Given the description of an element on the screen output the (x, y) to click on. 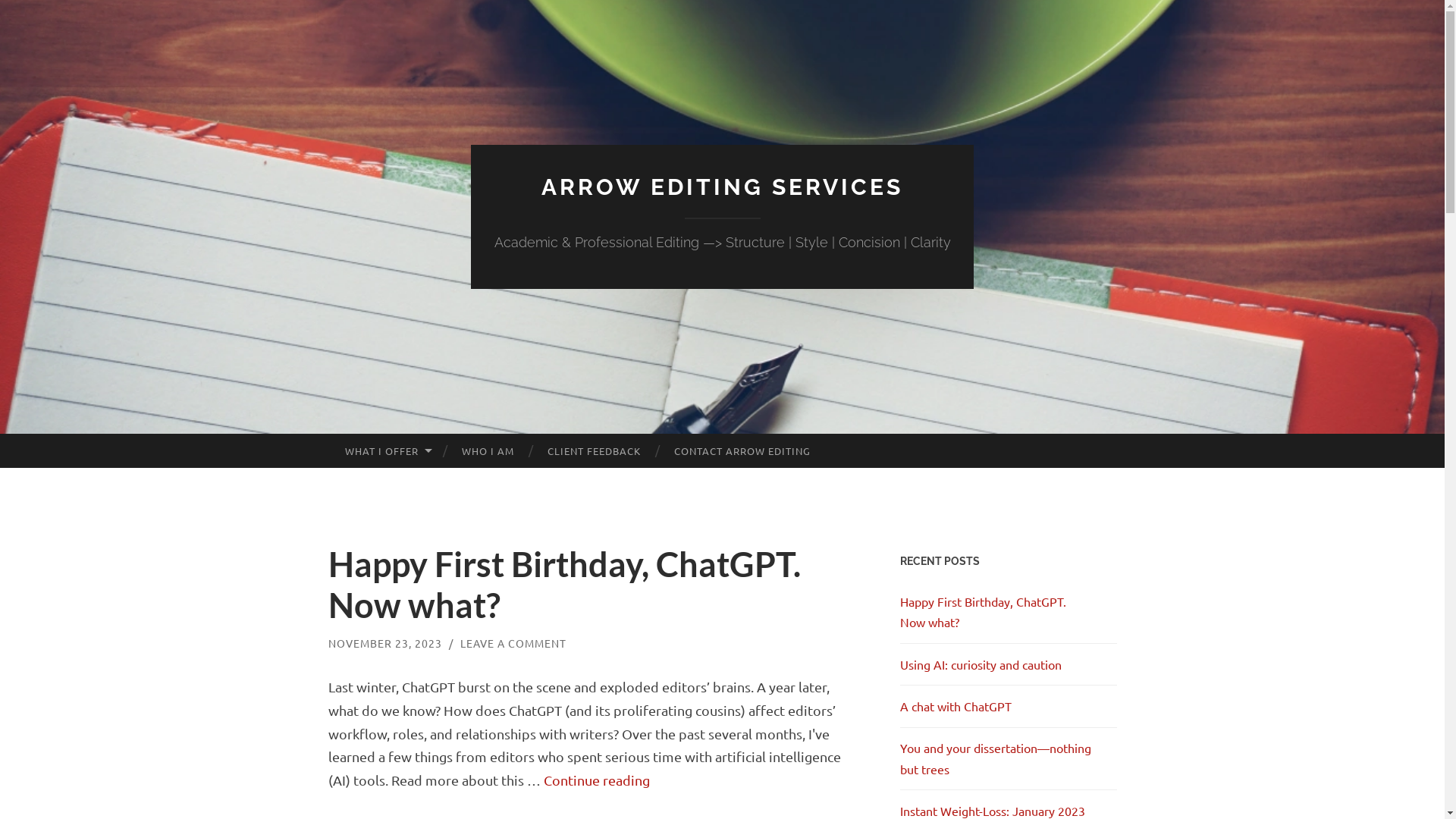
WHAT I OFFER Element type: text (385, 450)
LEAVE A COMMENT Element type: text (512, 642)
Continue reading Element type: text (595, 779)
A chat with ChatGPT Element type: text (954, 705)
CLIENT FEEDBACK Element type: text (593, 450)
Happy First Birthday, ChatGPT. Now what? Element type: text (982, 611)
Instant Weight-Loss: January 2023 Element type: text (991, 810)
ARROW EDITING SERVICES Element type: text (722, 186)
Happy First Birthday, ChatGPT. Now what? Element type: text (563, 584)
Using AI: curiosity and caution Element type: text (979, 663)
CONTACT ARROW EDITING Element type: text (742, 450)
NOVEMBER 23, 2023 Element type: text (384, 642)
WHO I AM Element type: text (487, 450)
